Given the description of an element on the screen output the (x, y) to click on. 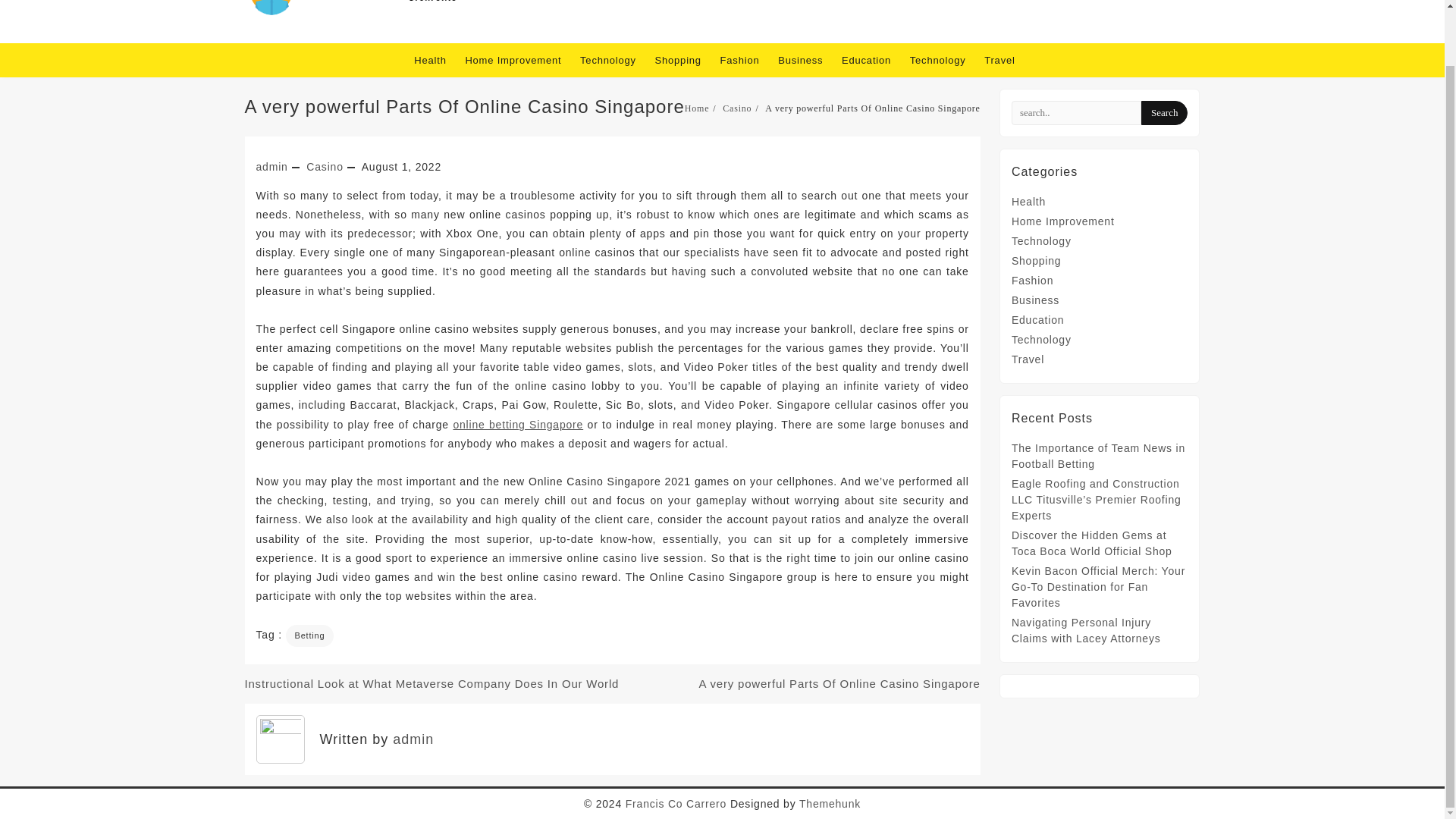
Home Improvement (1063, 221)
Casino (323, 166)
Casino (736, 108)
Health (1028, 201)
Shopping (1036, 260)
online betting Singapore (517, 424)
Home Improvement (520, 59)
Education (873, 59)
Home (697, 108)
admin (272, 166)
